Given the description of an element on the screen output the (x, y) to click on. 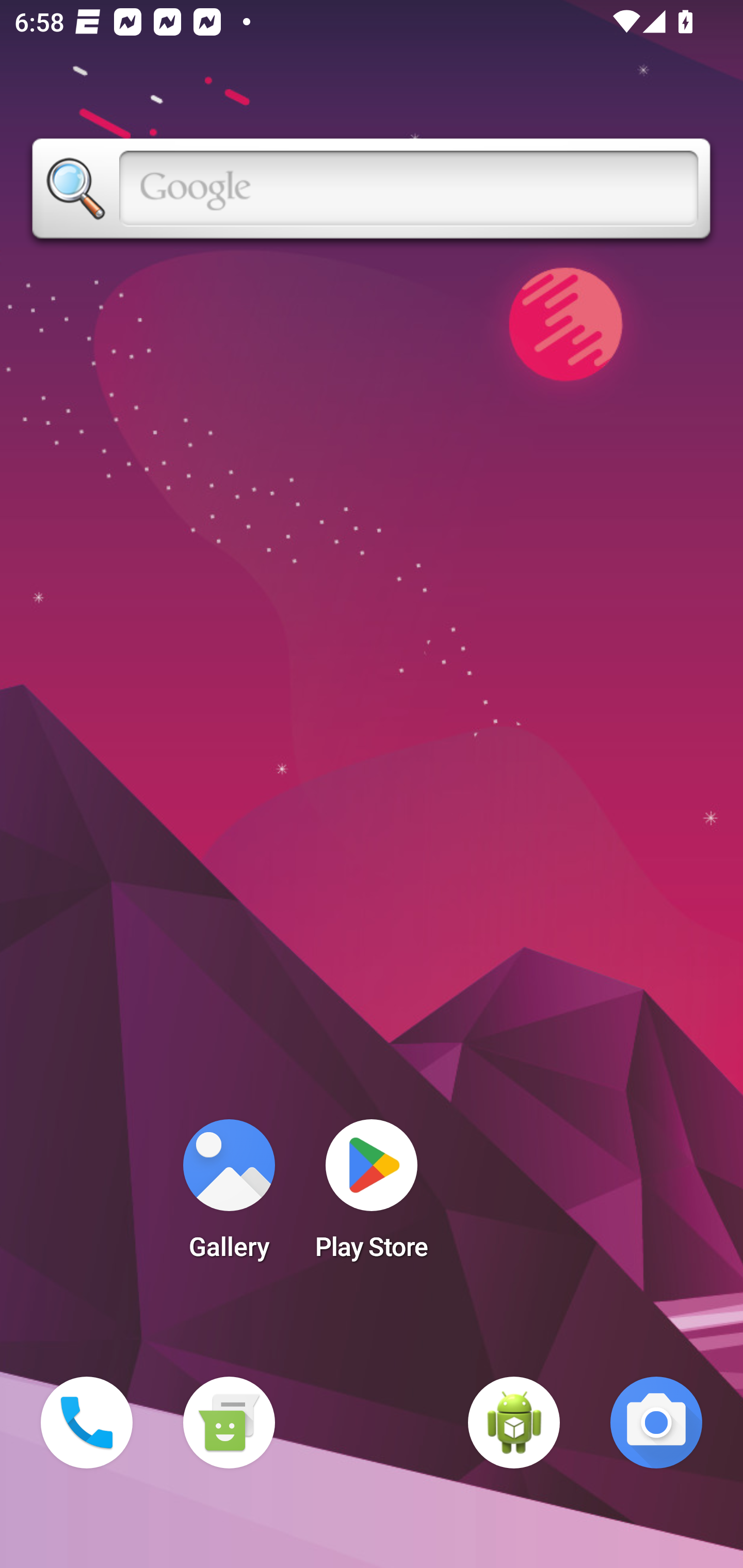
Gallery (228, 1195)
Play Store (371, 1195)
Phone (86, 1422)
Messaging (228, 1422)
WebView Browser Tester (513, 1422)
Camera (656, 1422)
